Given the description of an element on the screen output the (x, y) to click on. 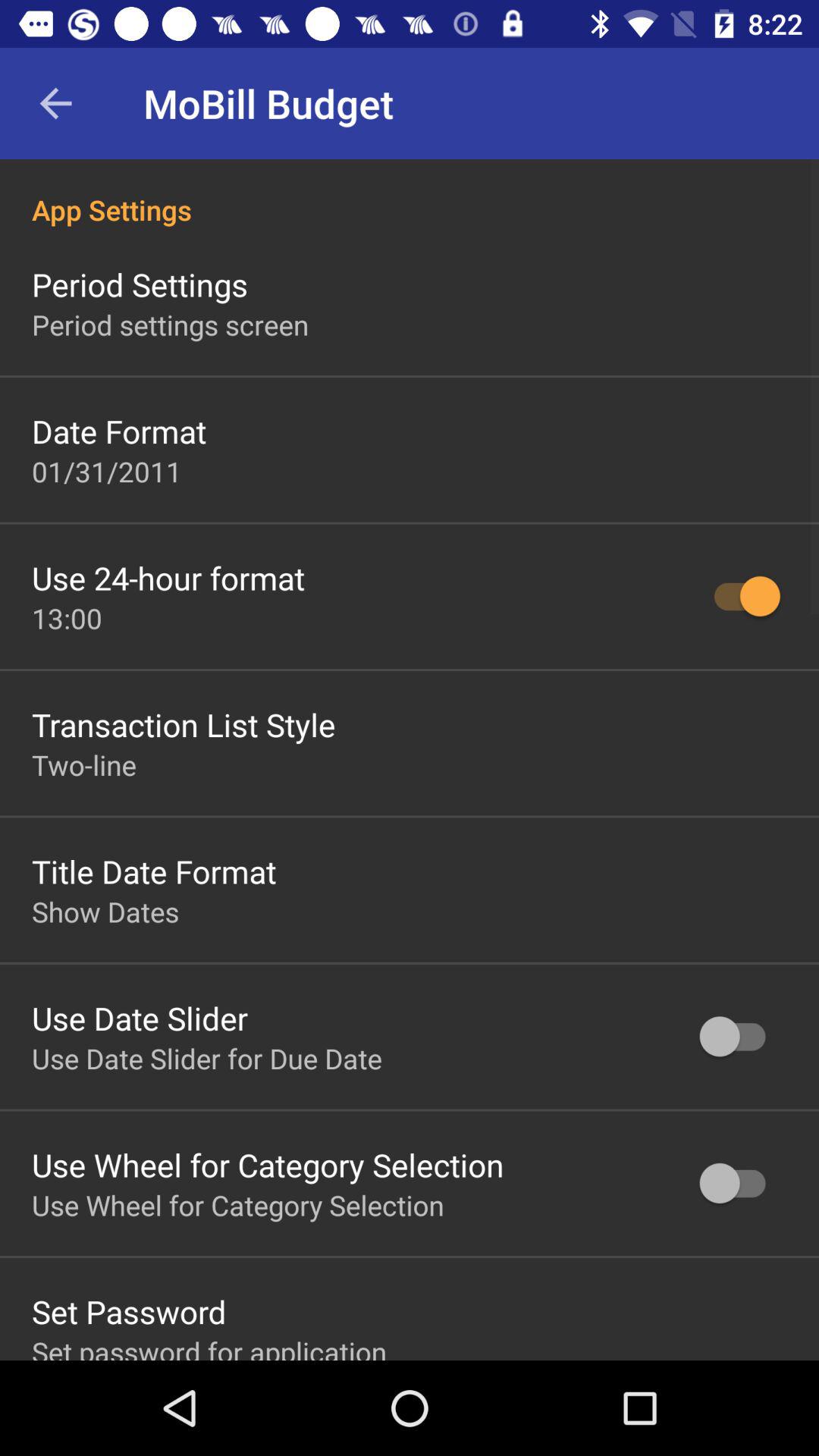
scroll until the show dates icon (105, 911)
